Given the description of an element on the screen output the (x, y) to click on. 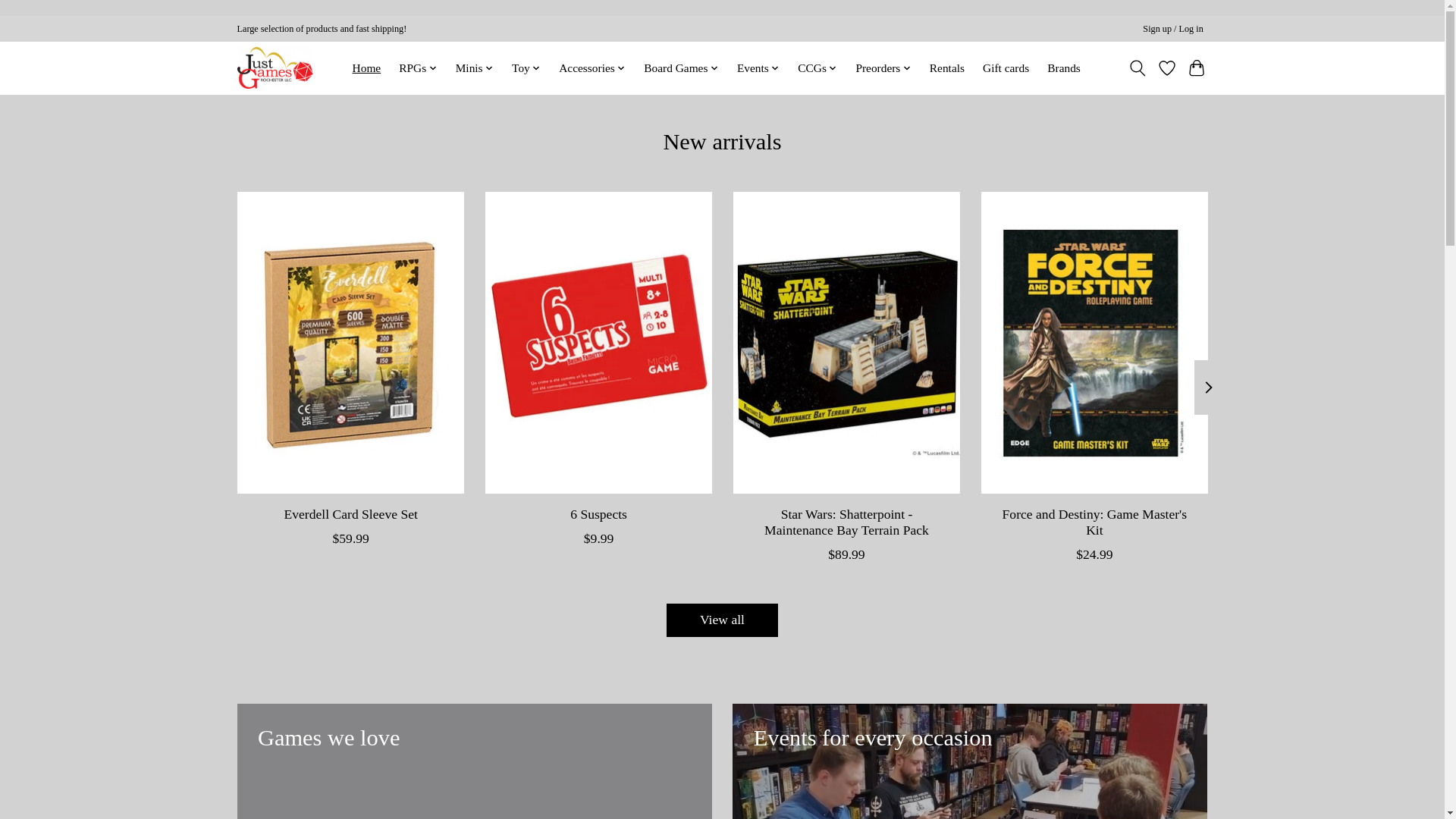
Home (365, 67)
RPGs (417, 67)
Just Games (274, 67)
Toy (526, 67)
Minis (474, 67)
My account (1173, 28)
